Given the description of an element on the screen output the (x, y) to click on. 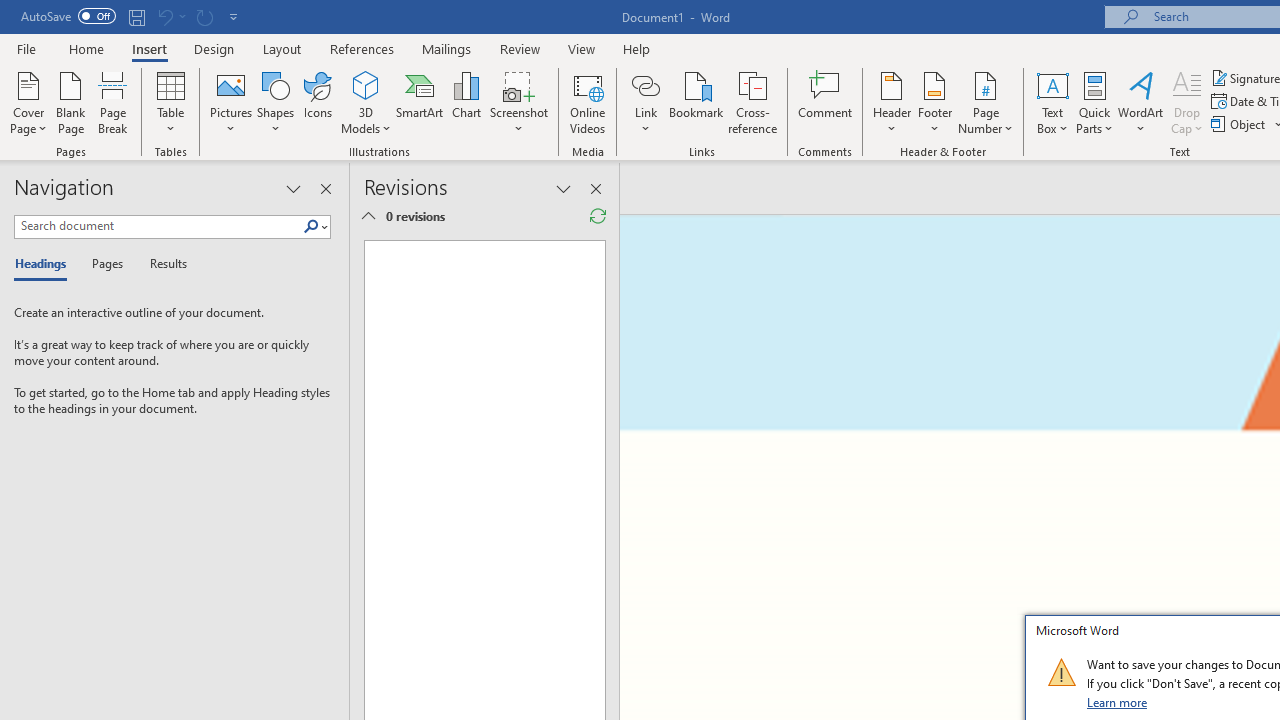
Pictures (230, 102)
3D Models (366, 84)
Object... (1240, 124)
Shapes (275, 102)
Link (645, 102)
Table (170, 102)
Show Detailed Summary (368, 215)
Blank Page (70, 102)
WordArt (1141, 102)
